Given the description of an element on the screen output the (x, y) to click on. 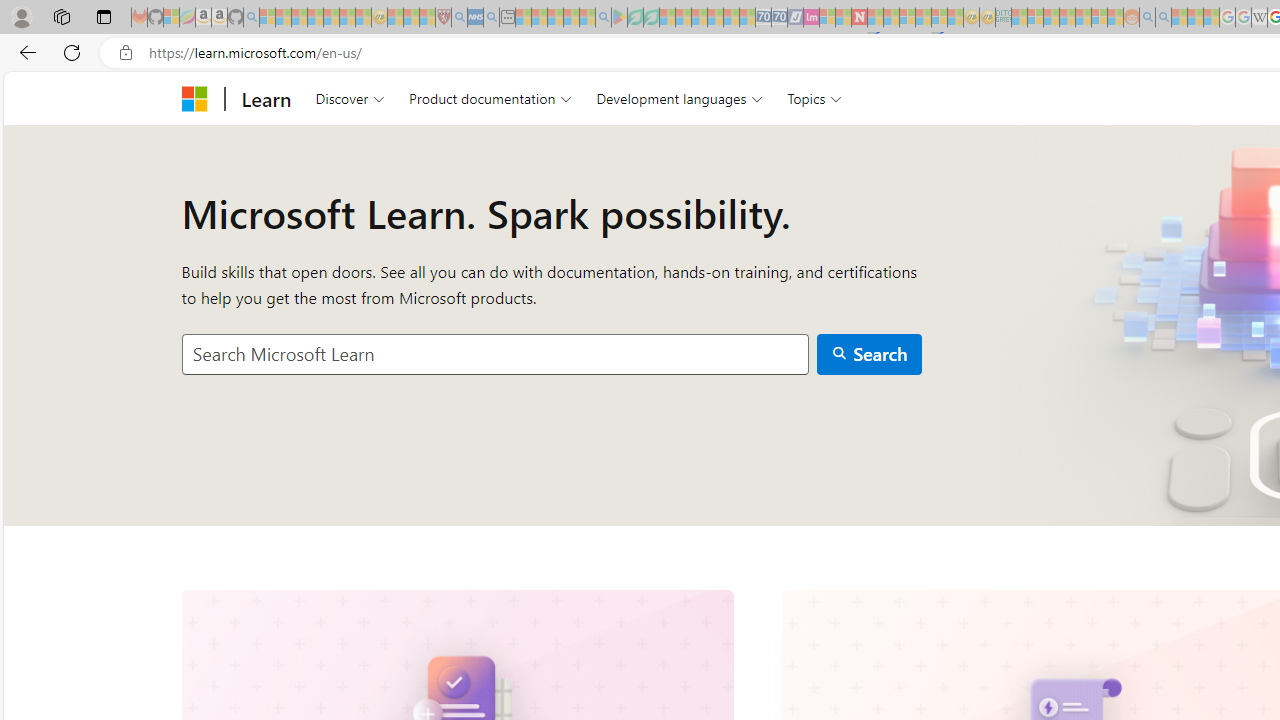
Topics (815, 98)
